Given the description of an element on the screen output the (x, y) to click on. 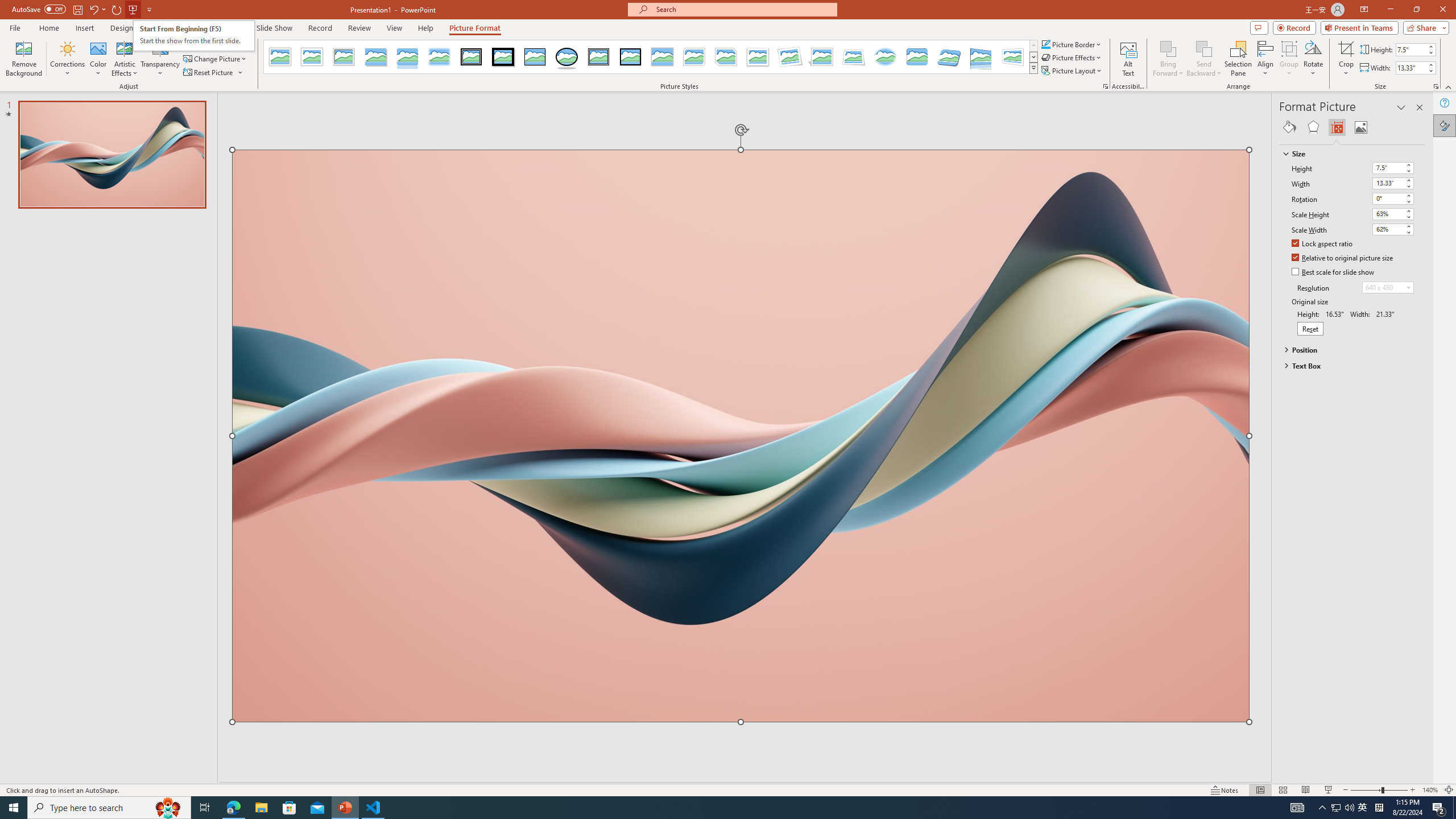
Customize Quick Access Toolbar (149, 9)
Moderate Frame, Black (630, 56)
Bevel Rectangle (917, 56)
Format Picture (1444, 125)
Send Backward (1204, 58)
Bevel Perspective Left, White (1013, 56)
Compress Pictures... (217, 44)
Rounded Diagonal Corner, White (694, 56)
Group (1288, 58)
Height (1393, 167)
Compound Frame, Black (598, 56)
Width (1388, 182)
Reset (1310, 328)
Zoom Out (1366, 790)
Close (1442, 9)
